Given the description of an element on the screen output the (x, y) to click on. 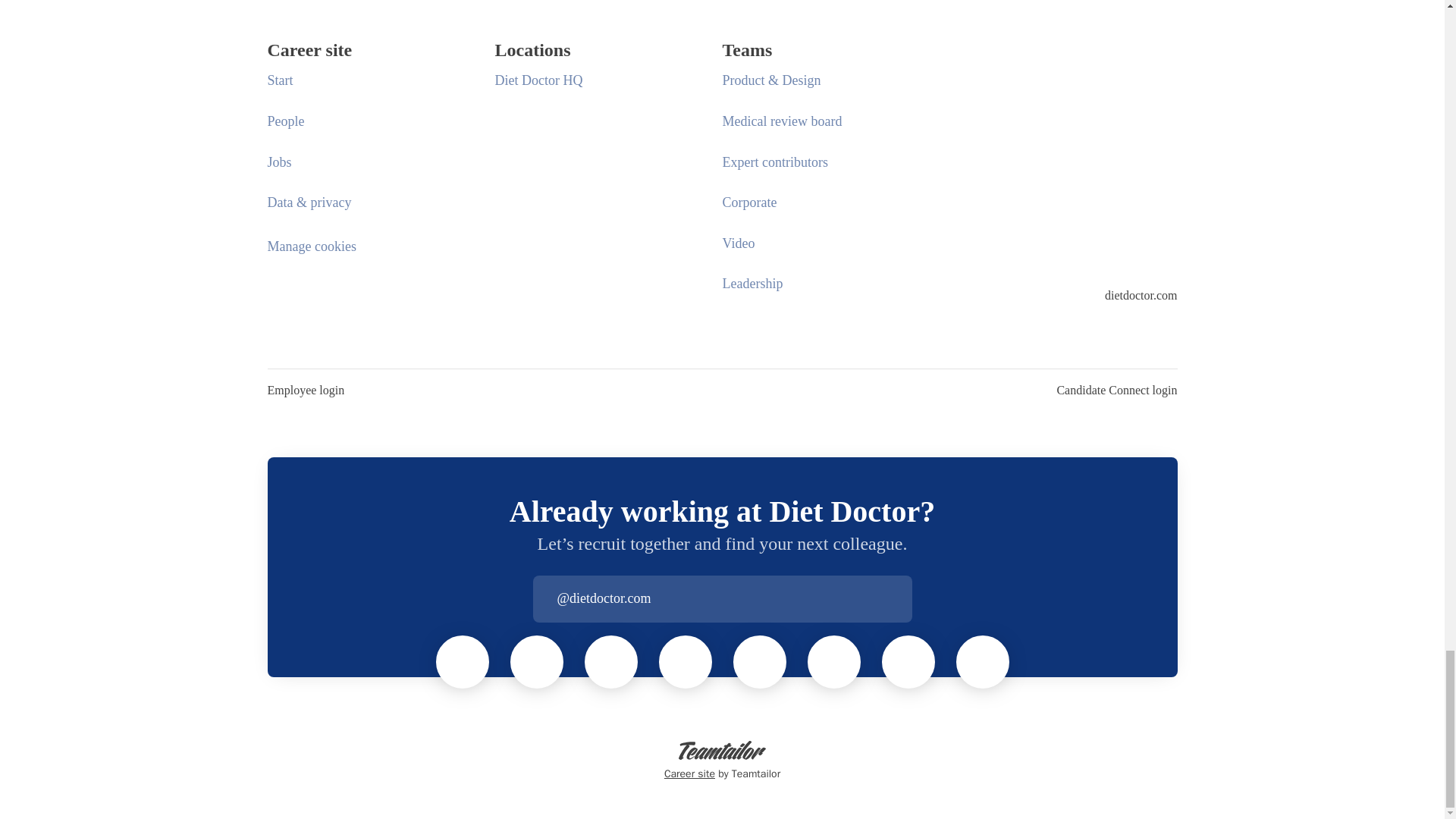
Video (738, 242)
dietdoctor.com (1141, 295)
Dr. William Yancy, MD (908, 662)
Corporate (749, 201)
Jobs (278, 161)
Medical review board (781, 120)
Manage cookies (310, 246)
Log in (899, 598)
Dr. Janine Kyrillos, MD (759, 662)
Leadership (752, 283)
